Given the description of an element on the screen output the (x, y) to click on. 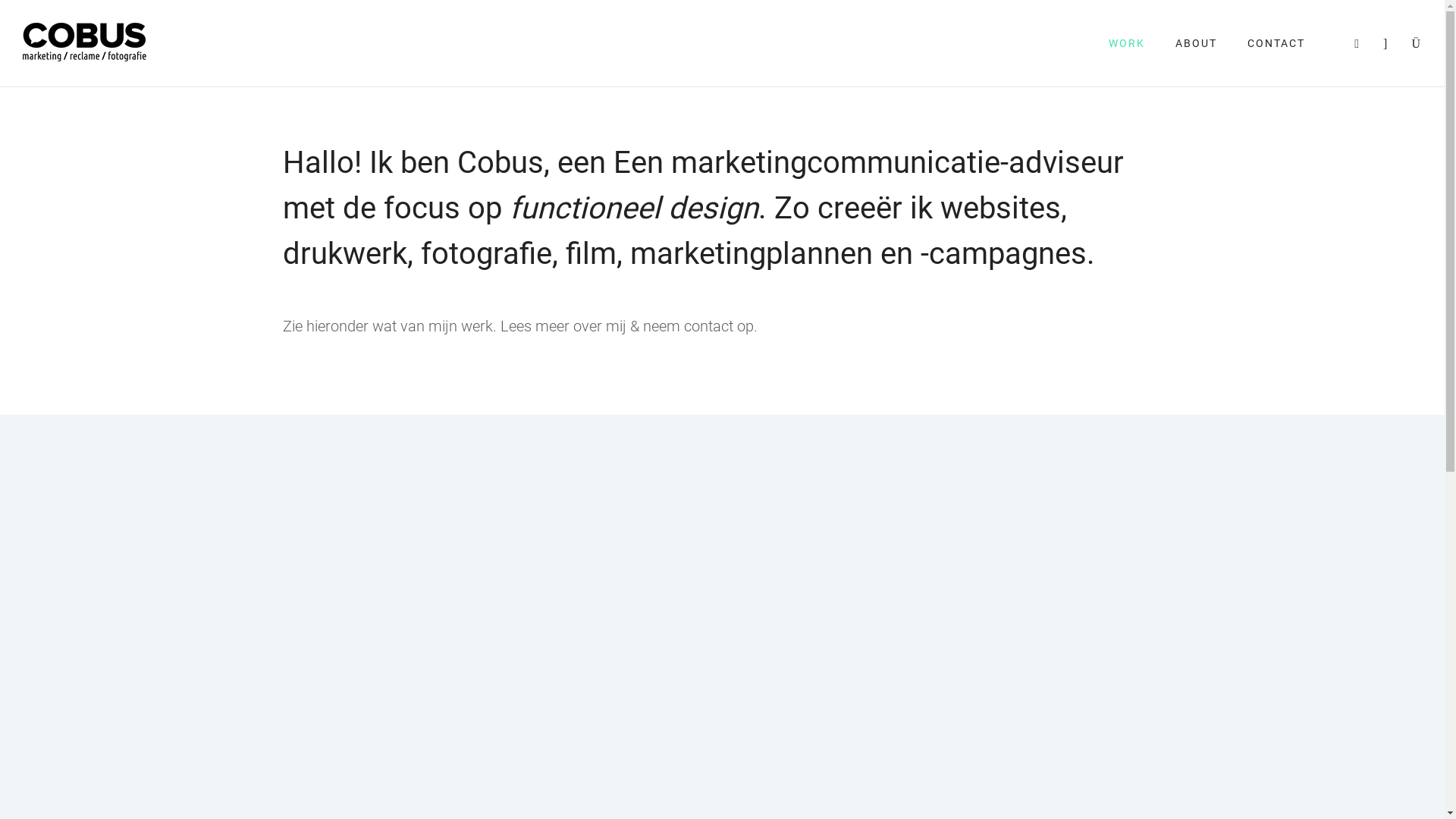
WORK Element type: text (1126, 43)
meer over mij Element type: text (580, 325)
CONTACT Element type: text (1276, 43)
neem contact op Element type: text (698, 325)
ABOUT Element type: text (1196, 43)
